Given the description of an element on the screen output the (x, y) to click on. 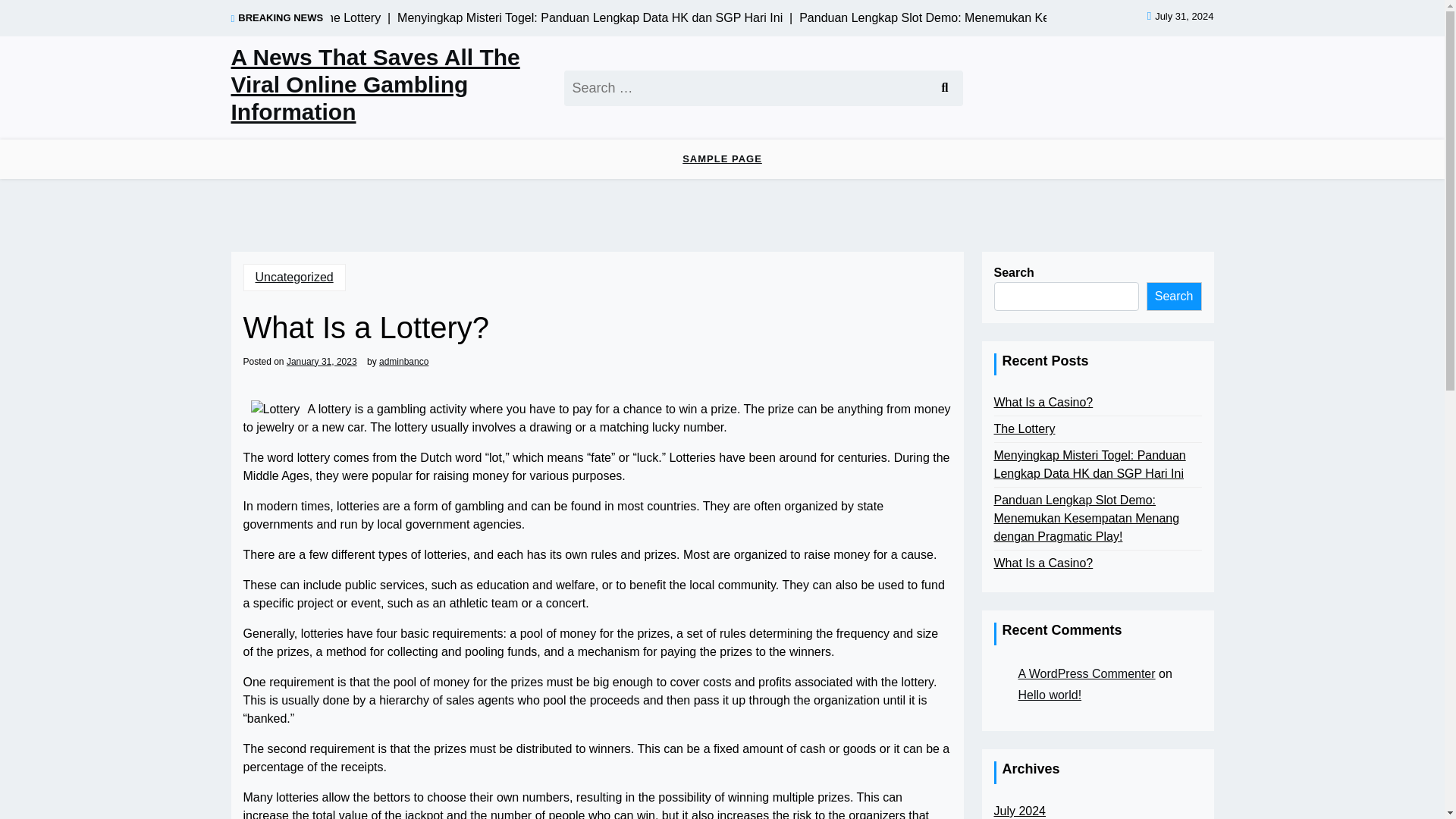
January 31, 2023 (321, 360)
Hello world! (1049, 695)
July 2024 (1018, 810)
adminbanco (403, 360)
SAMPLE PAGE (721, 159)
The Lottery (1023, 429)
Search (943, 87)
Search (1174, 296)
A WordPress Commenter (1085, 674)
